Given the description of an element on the screen output the (x, y) to click on. 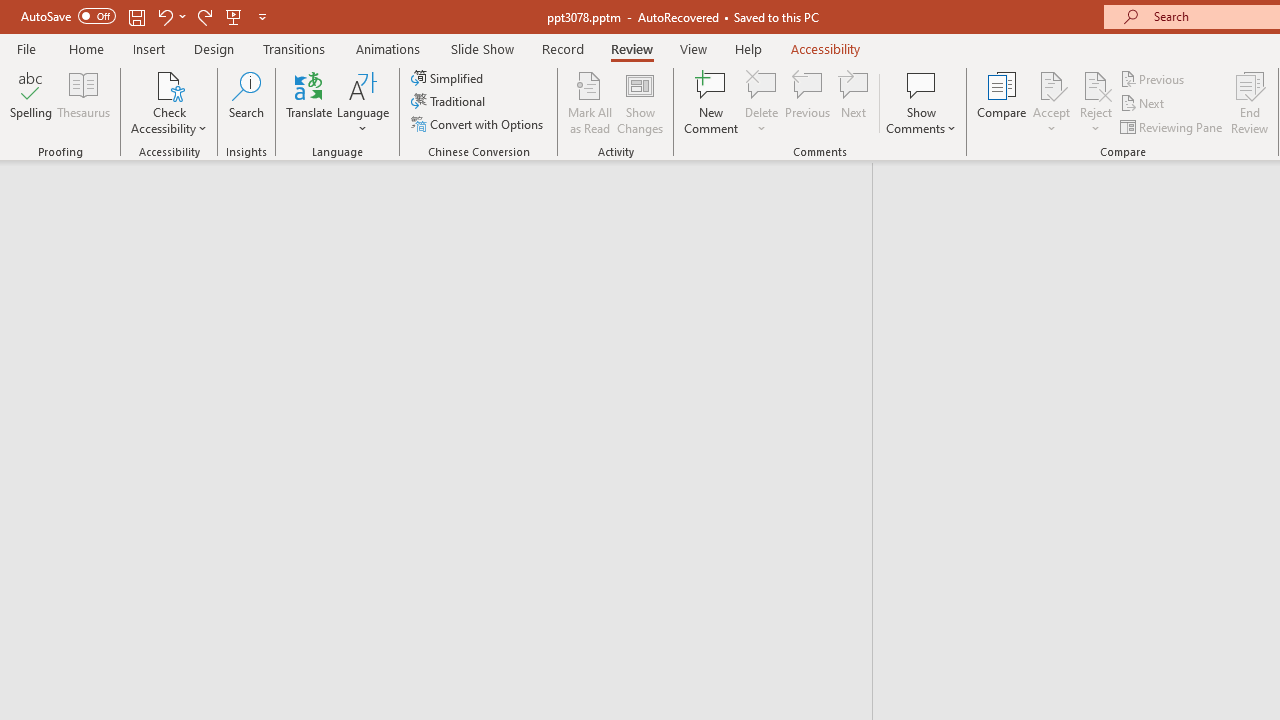
Show Changes (639, 102)
Language (363, 102)
